Given the description of an element on the screen output the (x, y) to click on. 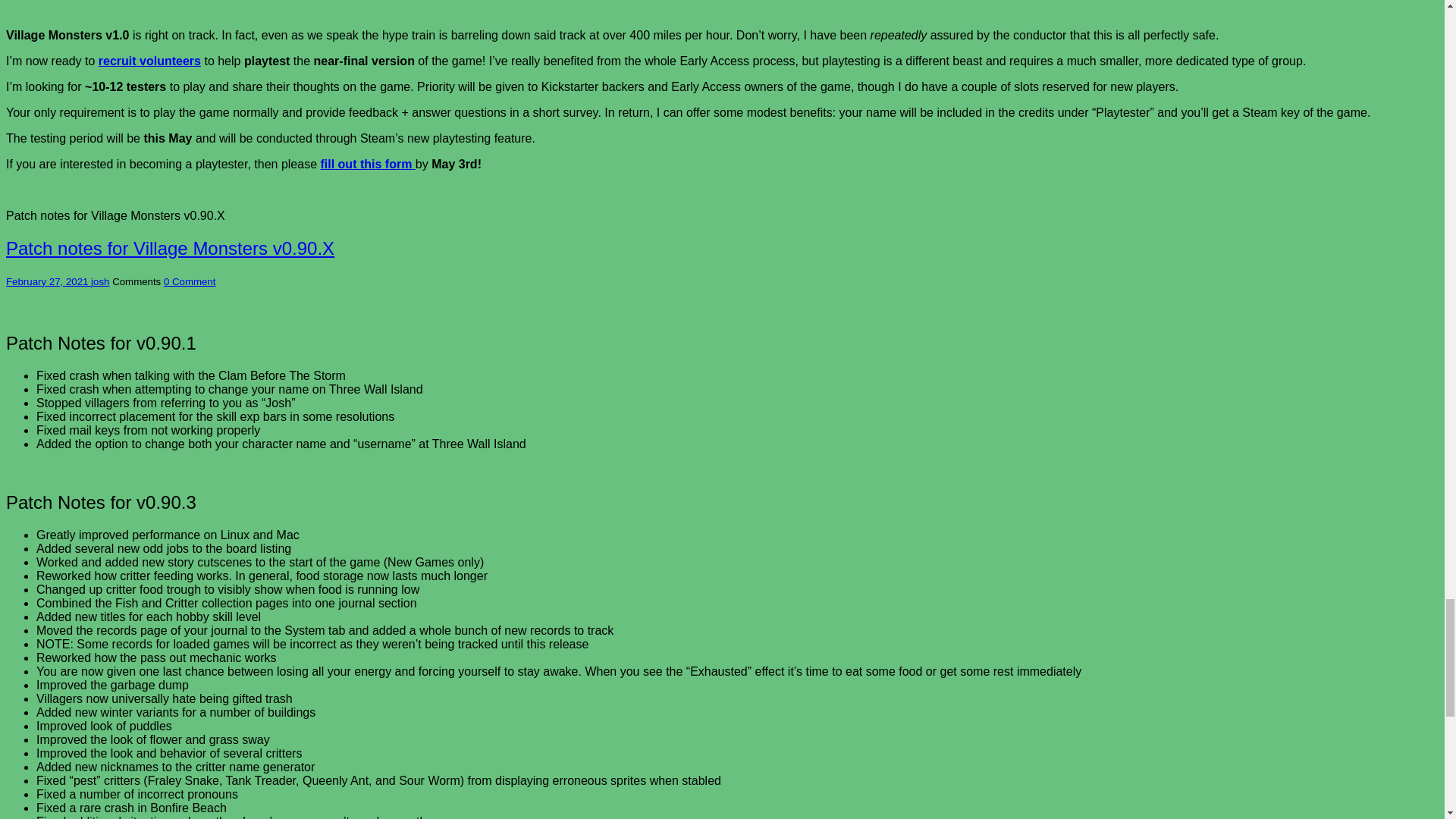
Patch notes for Village Monsters v0.90.X (169, 248)
View all posts by josh (99, 281)
0 Comment (189, 281)
3:29 pm (47, 281)
recruit volunteers (149, 60)
February 27, 2021 (47, 281)
josh (99, 281)
fill out this form (367, 164)
